Given the description of an element on the screen output the (x, y) to click on. 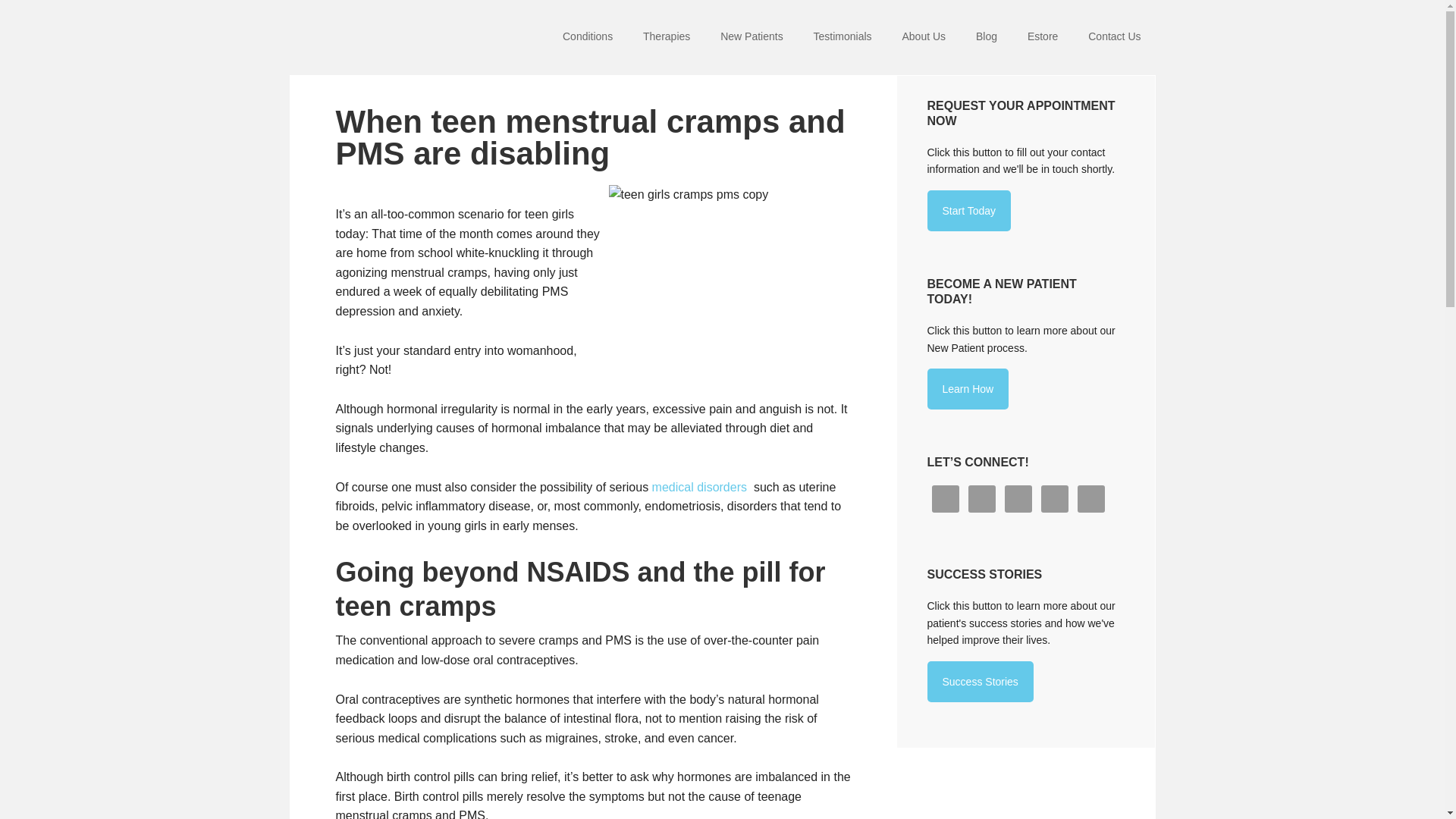
Start Today (968, 210)
Learn How (967, 388)
New Patients (751, 37)
About Us (923, 37)
Therapies (665, 37)
medical disorders (699, 486)
Success Stories (979, 680)
Conditions (587, 37)
Contact Us (1114, 37)
Chronic Conditions Chiropractic (387, 38)
